Given the description of an element on the screen output the (x, y) to click on. 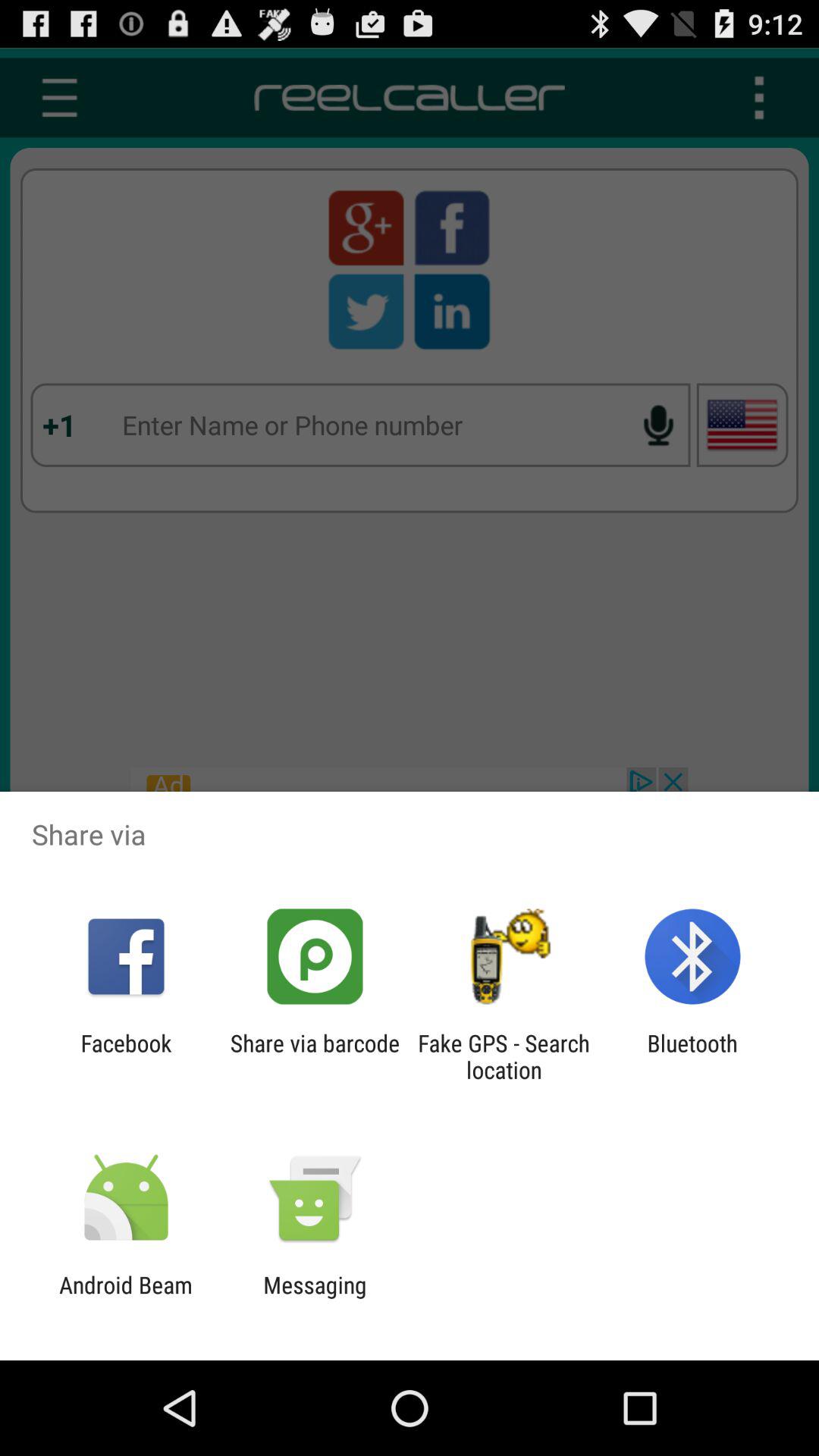
click the icon next to the messaging icon (125, 1298)
